Given the description of an element on the screen output the (x, y) to click on. 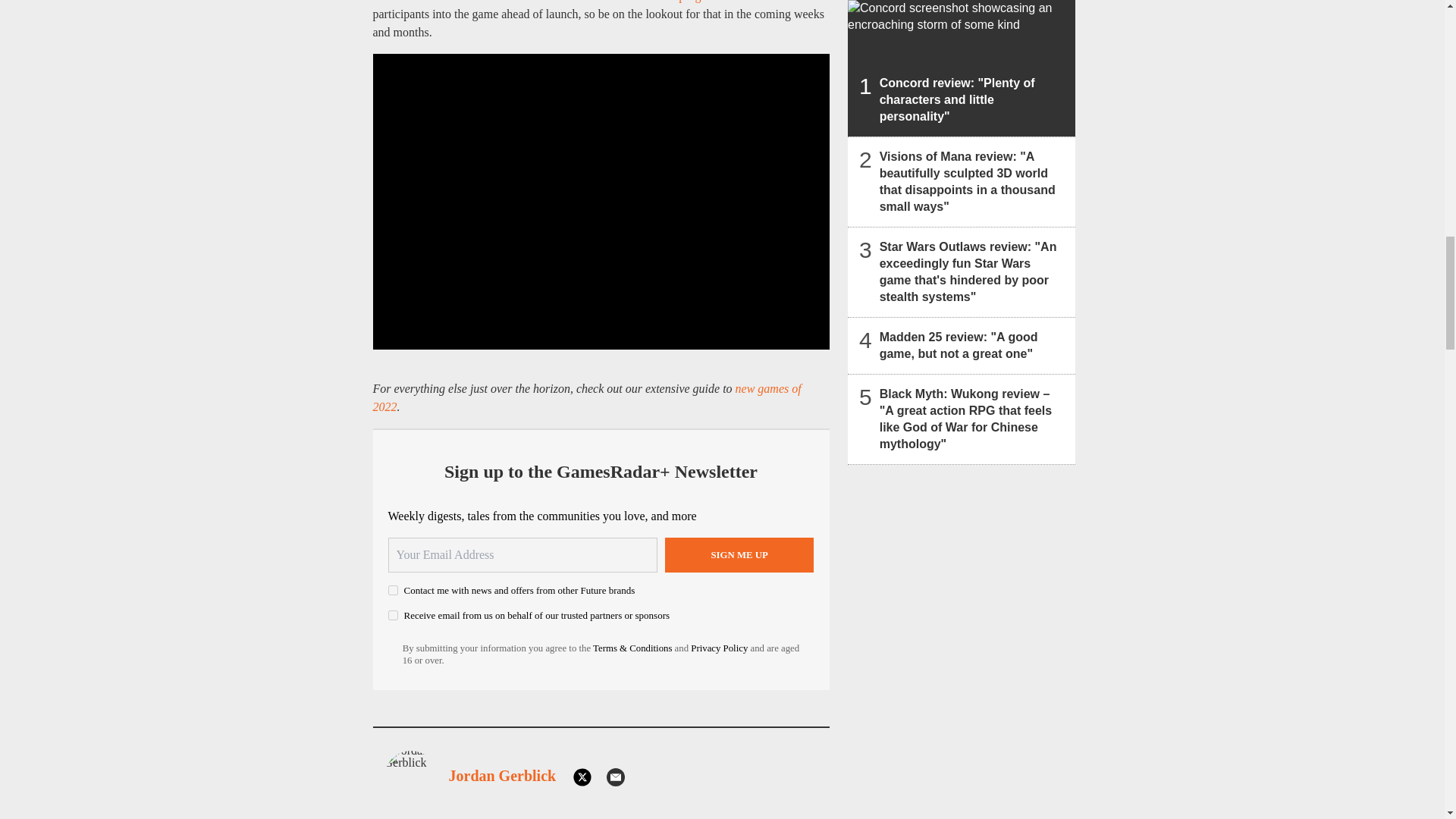
Sign me up (739, 554)
on (392, 590)
on (392, 614)
